Given the description of an element on the screen output the (x, y) to click on. 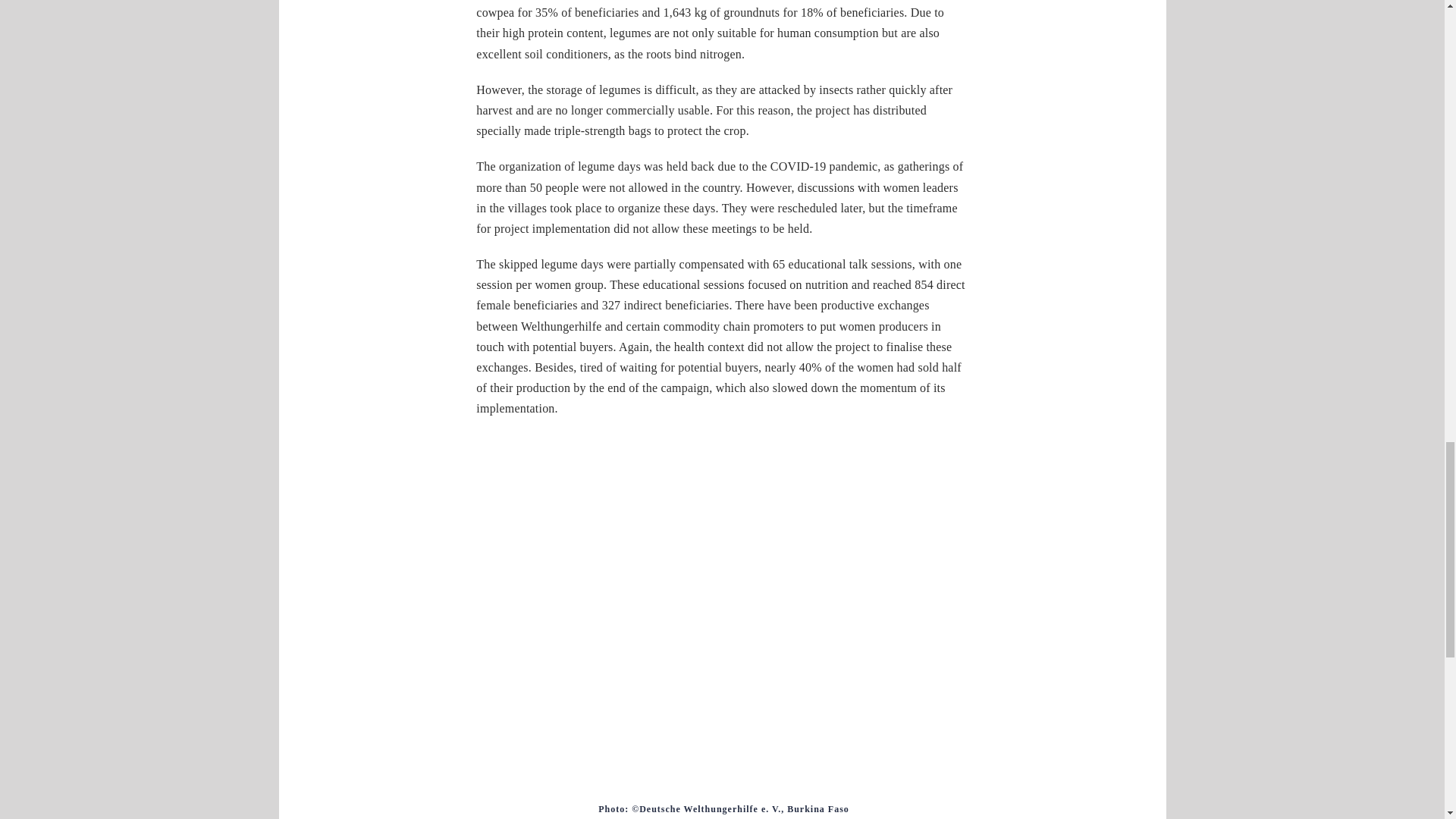
Page 2 (722, 808)
